Given the description of an element on the screen output the (x, y) to click on. 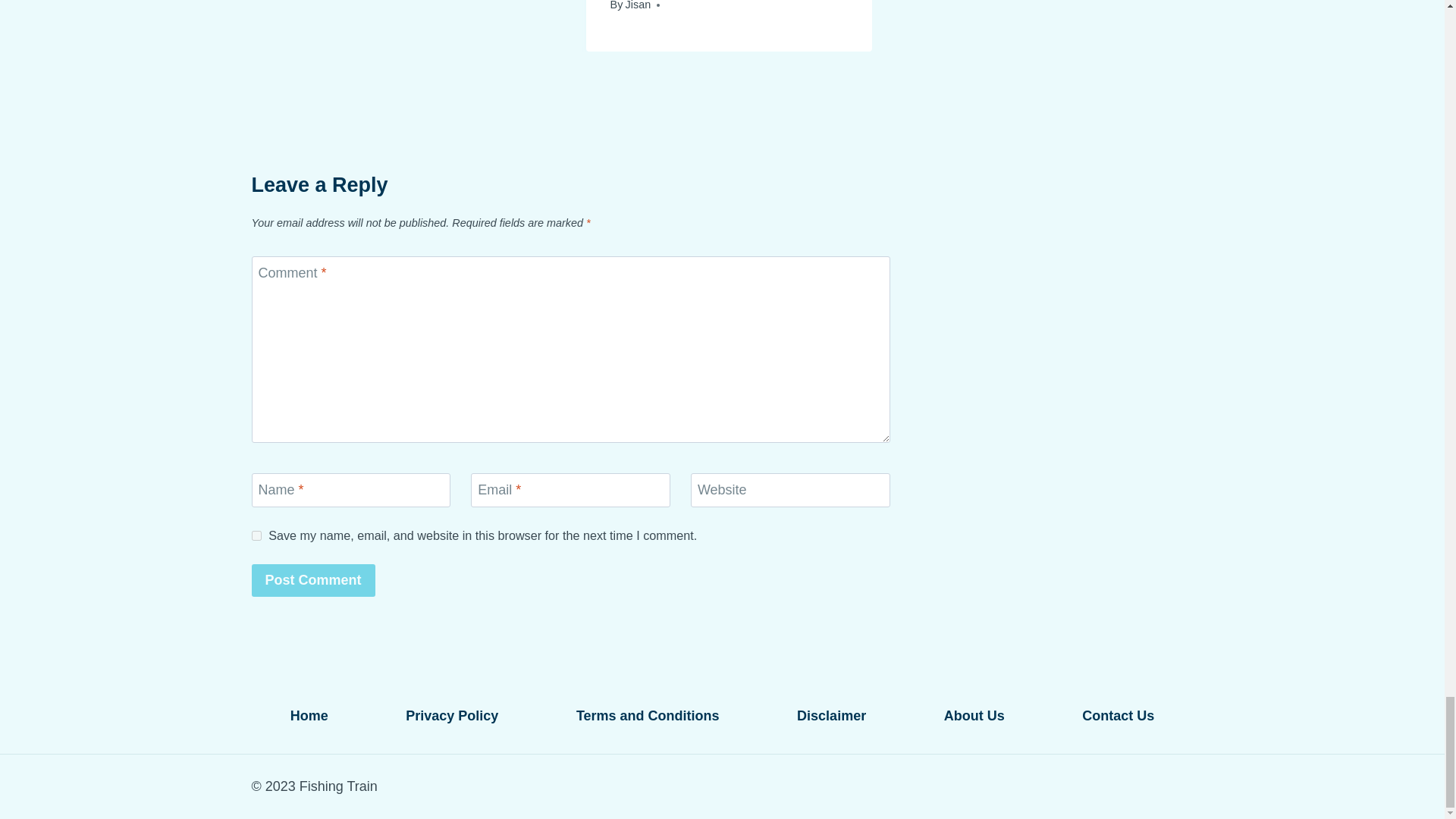
Post Comment (313, 580)
yes (256, 535)
